Given the description of an element on the screen output the (x, y) to click on. 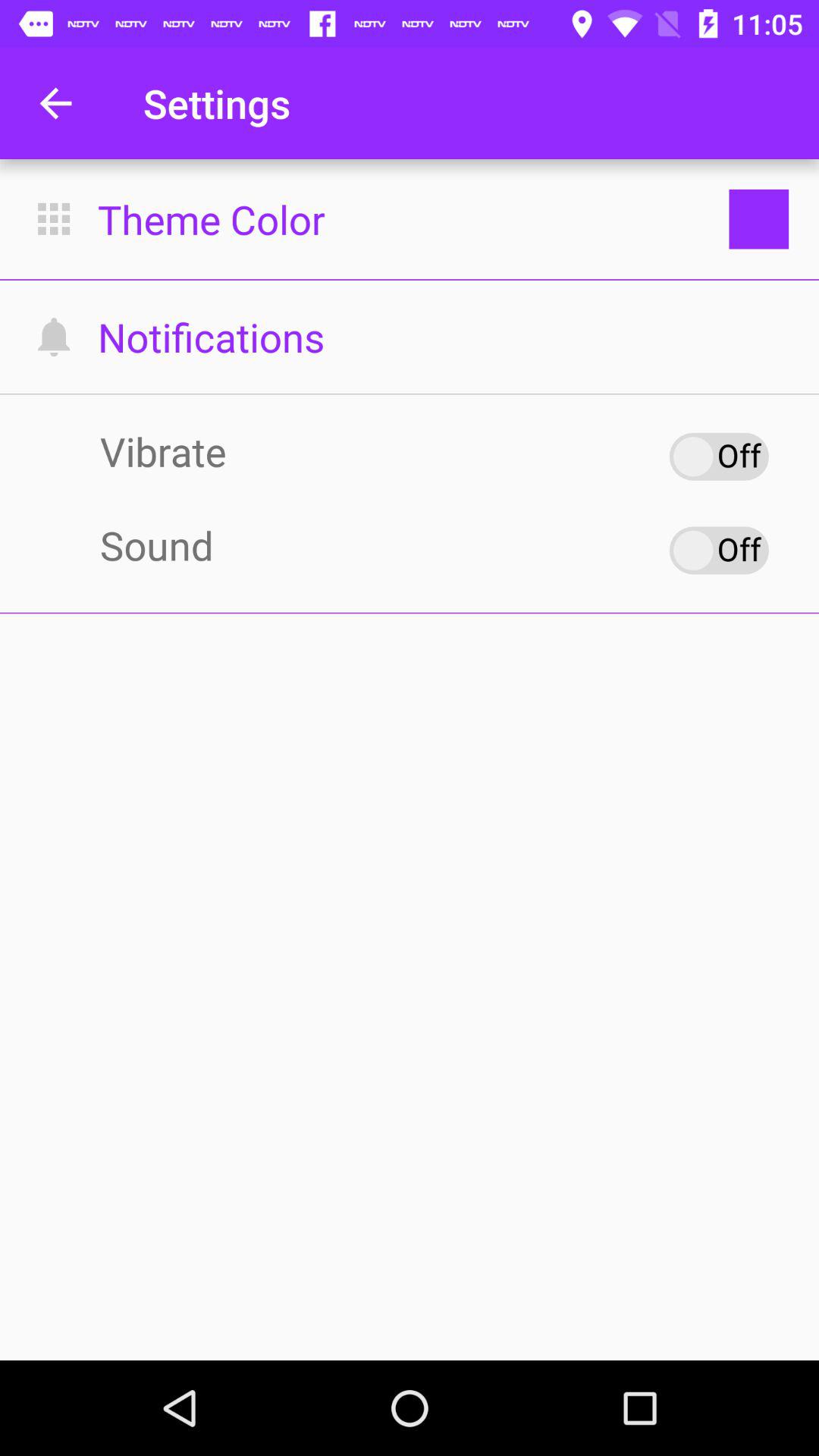
tap item above theme color (55, 103)
